Given the description of an element on the screen output the (x, y) to click on. 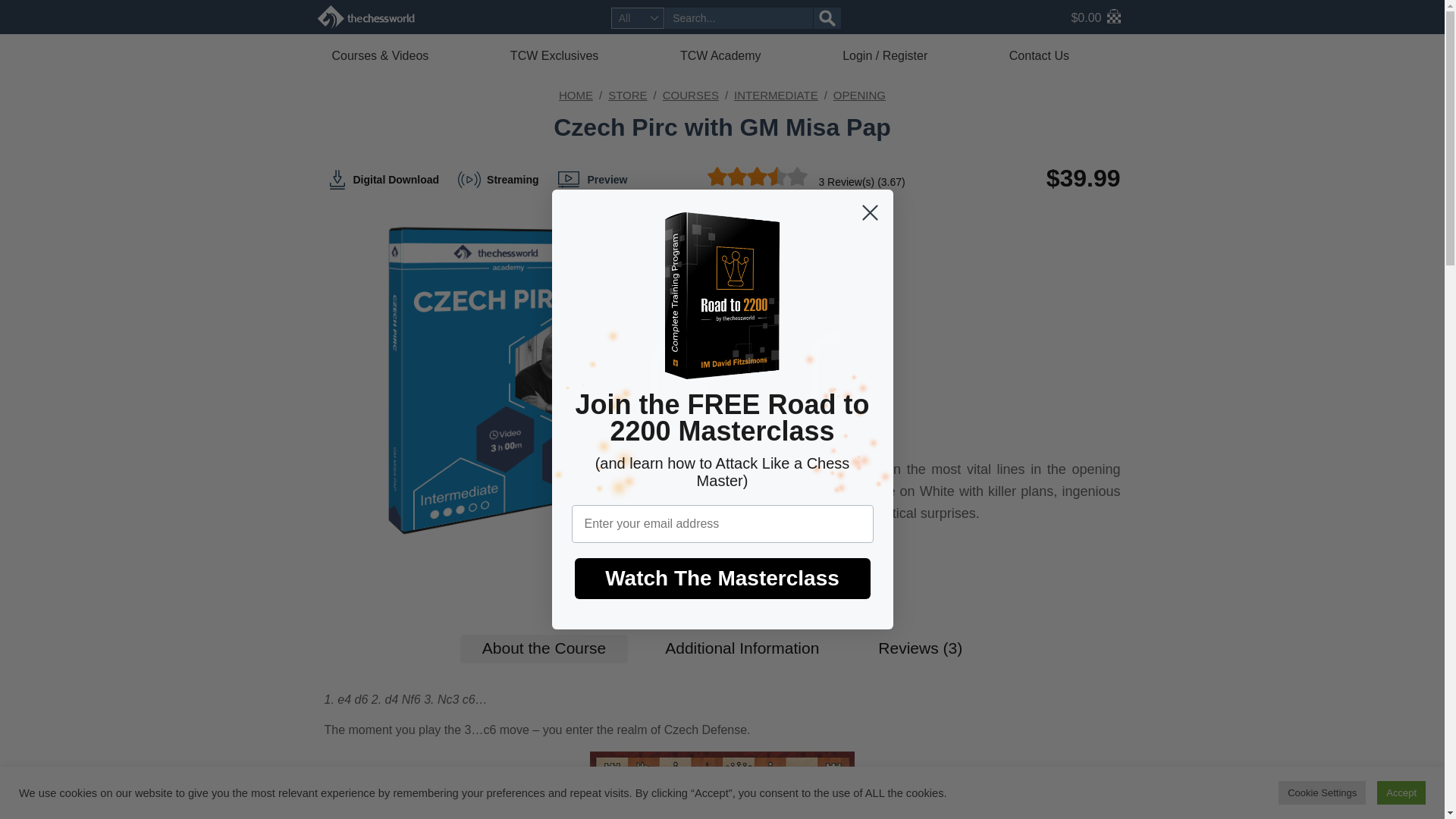
OPENING (858, 93)
TheChessWorld (365, 16)
Close dialog 1 (868, 212)
COURSES (690, 93)
ADD TO CART (782, 564)
TCW Academy (742, 53)
reviews (920, 648)
additional (742, 648)
INTERMEDIATE (775, 93)
HOME (575, 93)
about (543, 648)
STORE (627, 93)
TCW Exclusives (576, 53)
Contact Us (1061, 53)
